Given the description of an element on the screen output the (x, y) to click on. 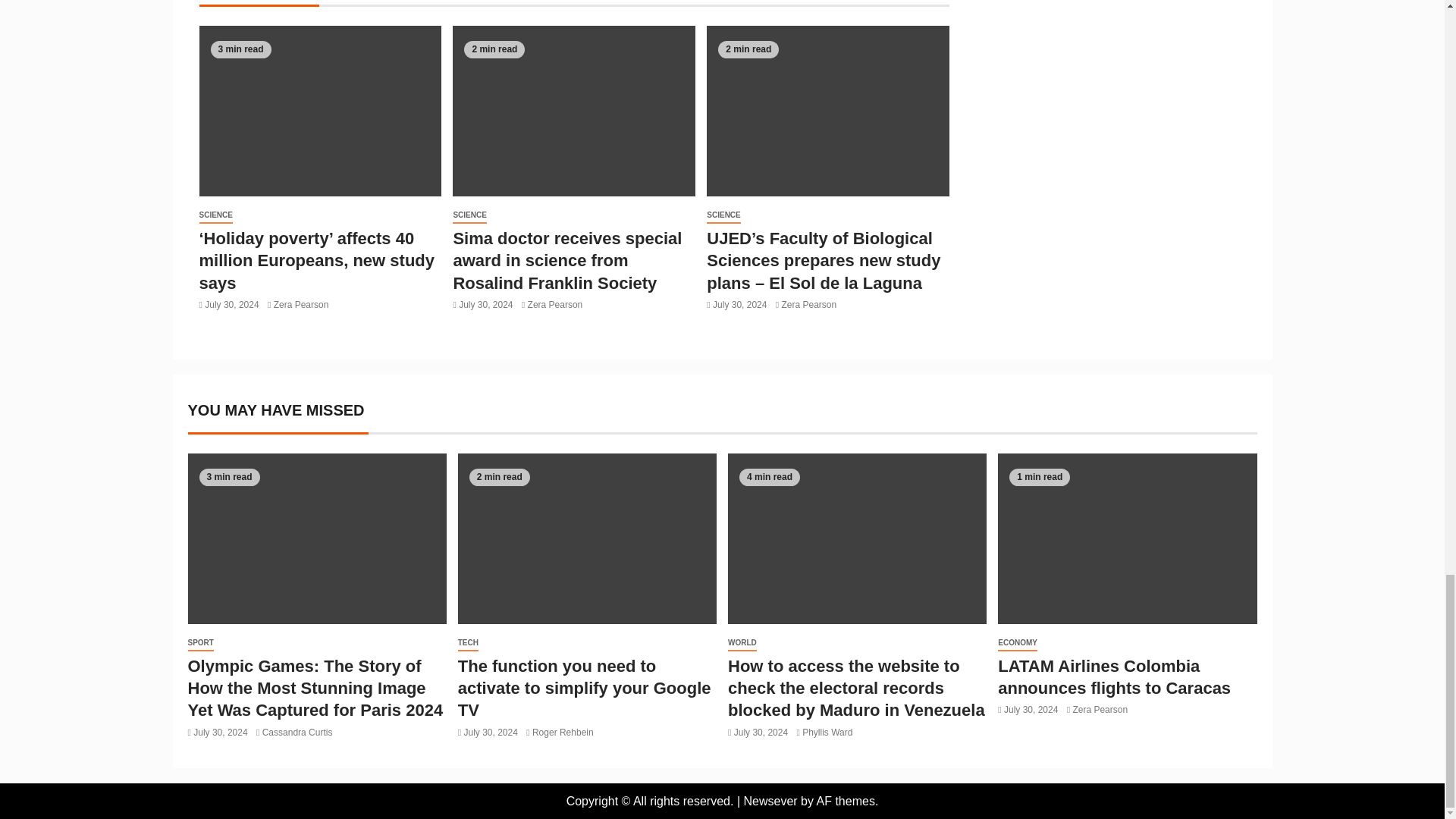
SCIENCE (469, 215)
SCIENCE (214, 215)
Zera Pearson (301, 304)
